Given the description of an element on the screen output the (x, y) to click on. 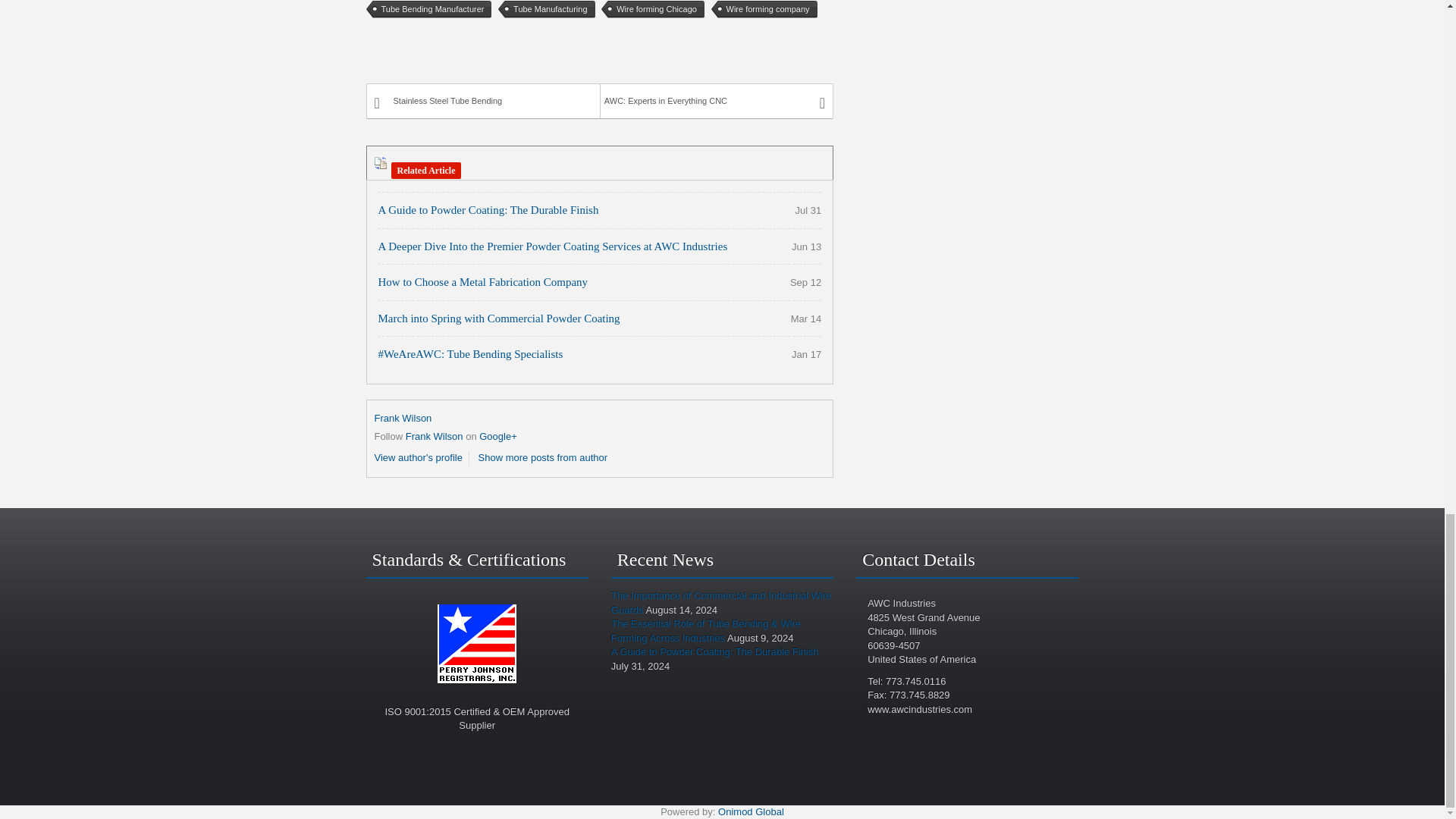
Digital Marketing Agency (750, 811)
View all posts by Frank Wilson (434, 436)
View all posts by Frank Wilson (403, 418)
